Given the description of an element on the screen output the (x, y) to click on. 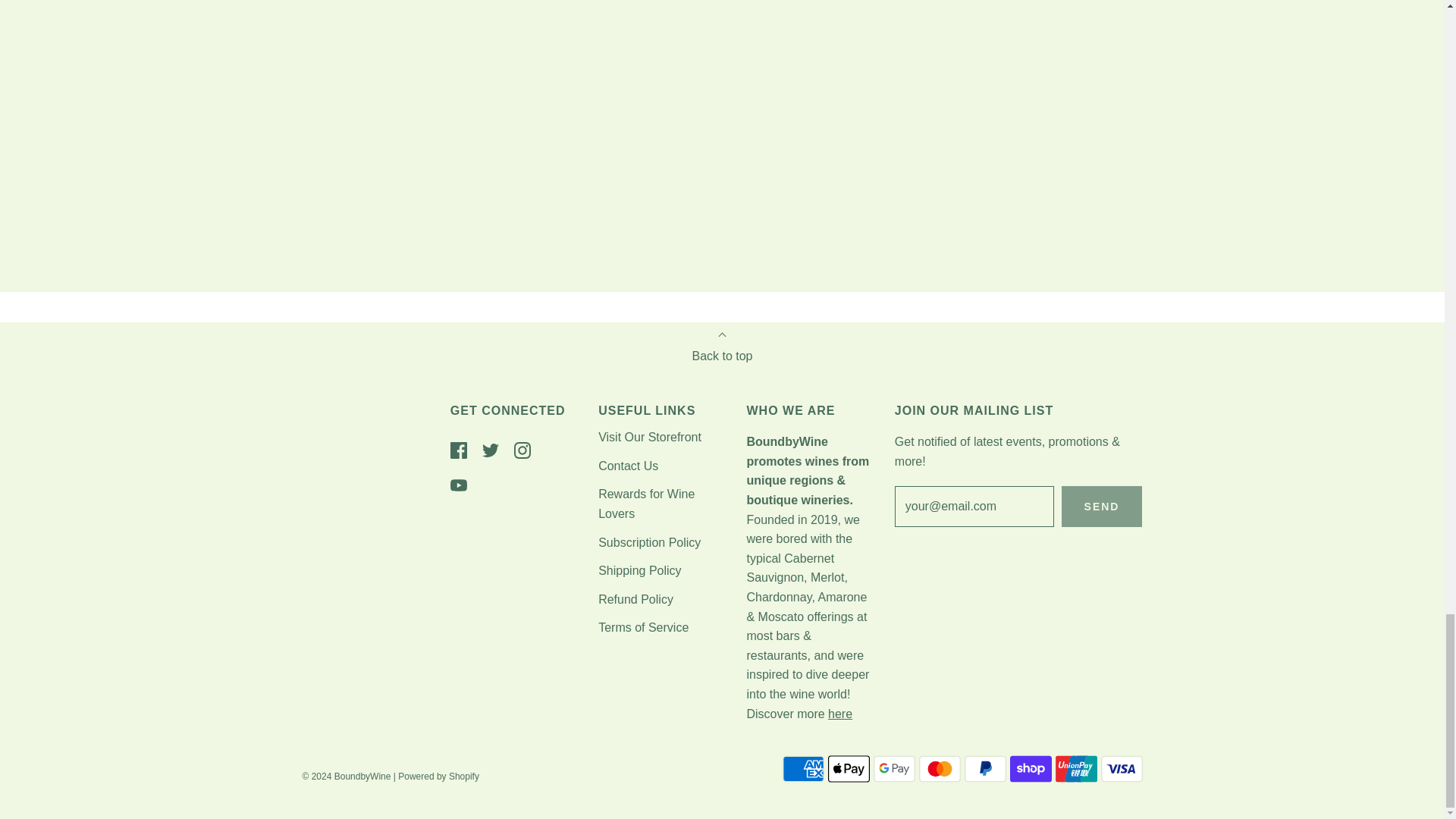
Google Pay (894, 768)
YouTube icon (458, 484)
Shop Pay (1030, 768)
Apple Pay (848, 768)
Mastercard (939, 768)
PayPal (984, 768)
About Us (839, 713)
Twitter icon (490, 450)
American Express (803, 768)
Facebook icon (458, 450)
Instagram icon (522, 450)
